Given the description of an element on the screen output the (x, y) to click on. 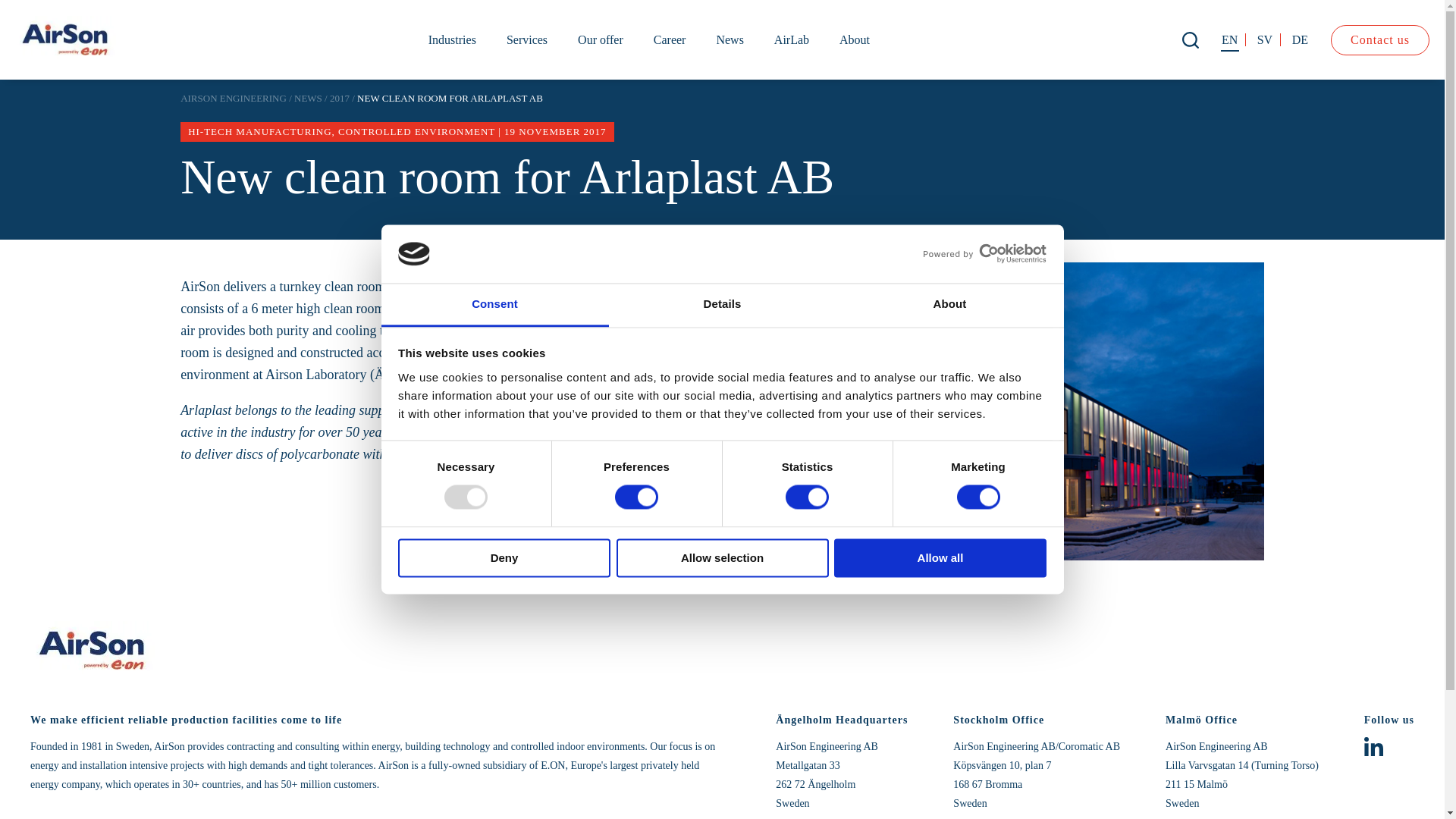
Deny (503, 557)
Details (721, 304)
About (948, 304)
Consent (494, 304)
Allow all (940, 557)
Allow selection (721, 557)
